Given the description of an element on the screen output the (x, y) to click on. 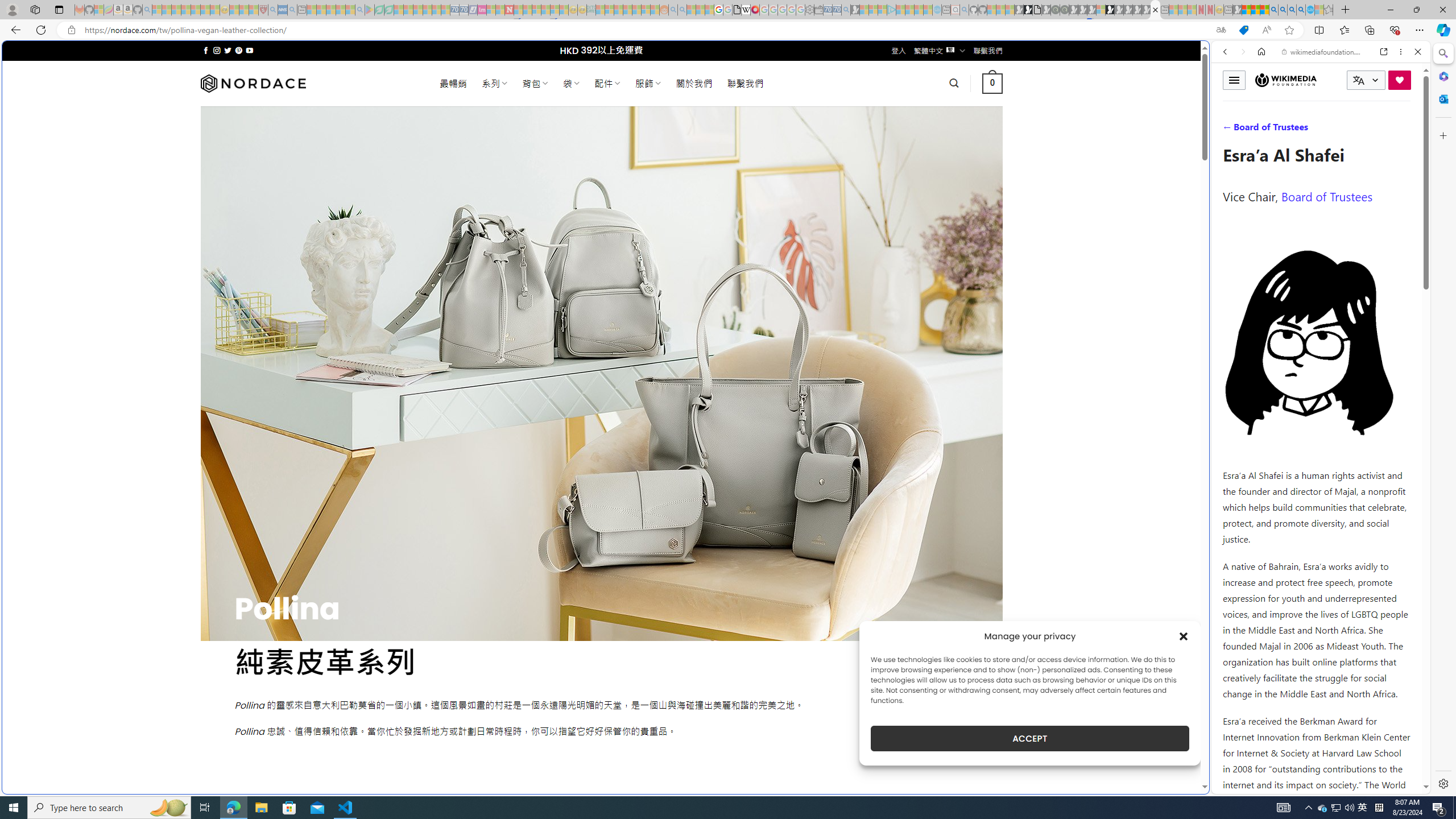
Recipes - MSN - Sleeping (234, 9)
Toggle menu (1233, 80)
2009 Bing officially replaced Live Search on June 3 - Search (1283, 9)
WEB   (1230, 130)
utah sues federal government - Search (922, 389)
IMAGES (1262, 130)
Wikimedia Foundation (1285, 79)
Bing Real Estate - Home sales and rental listings - Sleeping (846, 9)
